Given the description of an element on the screen output the (x, y) to click on. 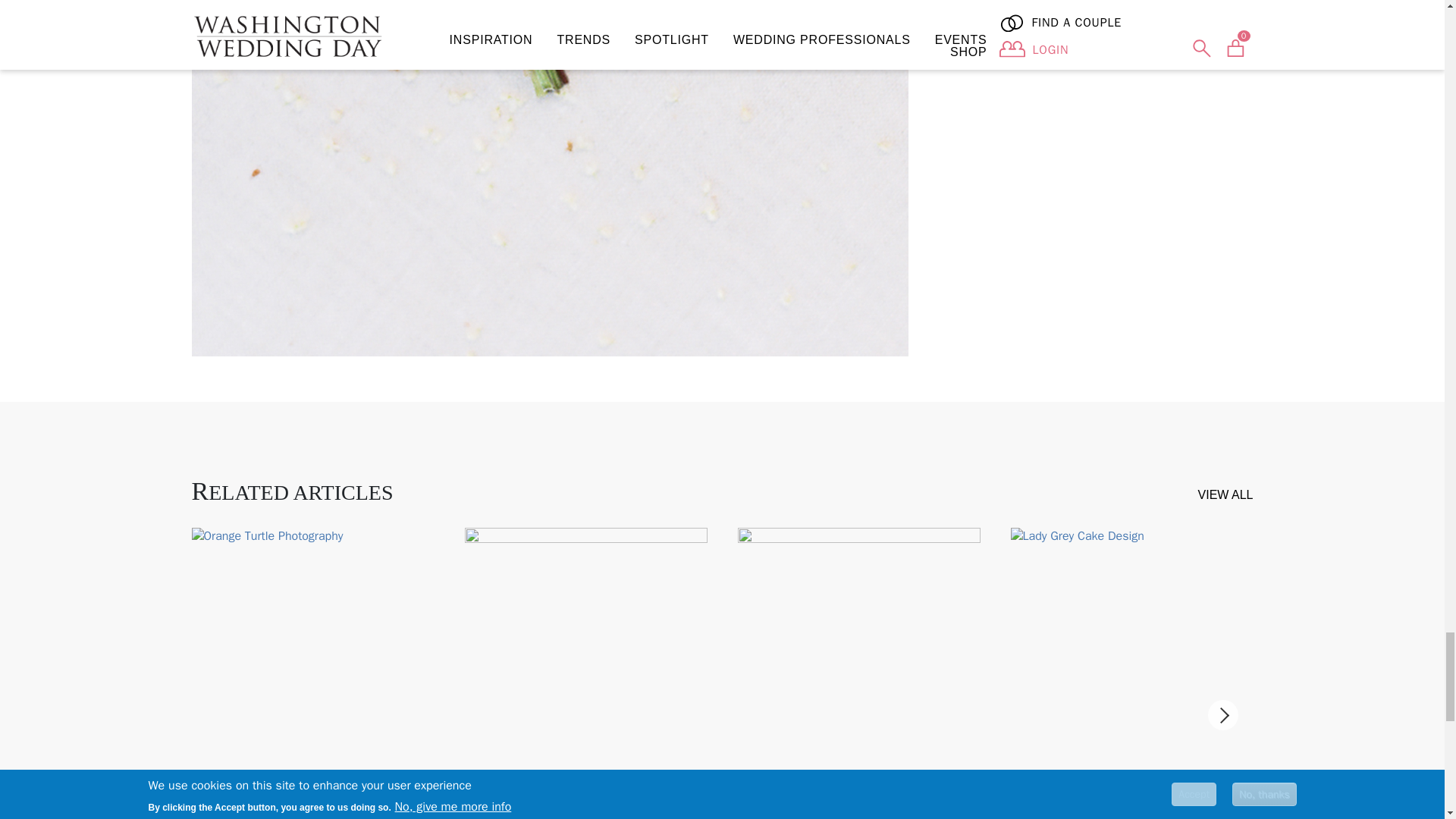
VIEW ALL (1225, 494)
